Given the description of an element on the screen output the (x, y) to click on. 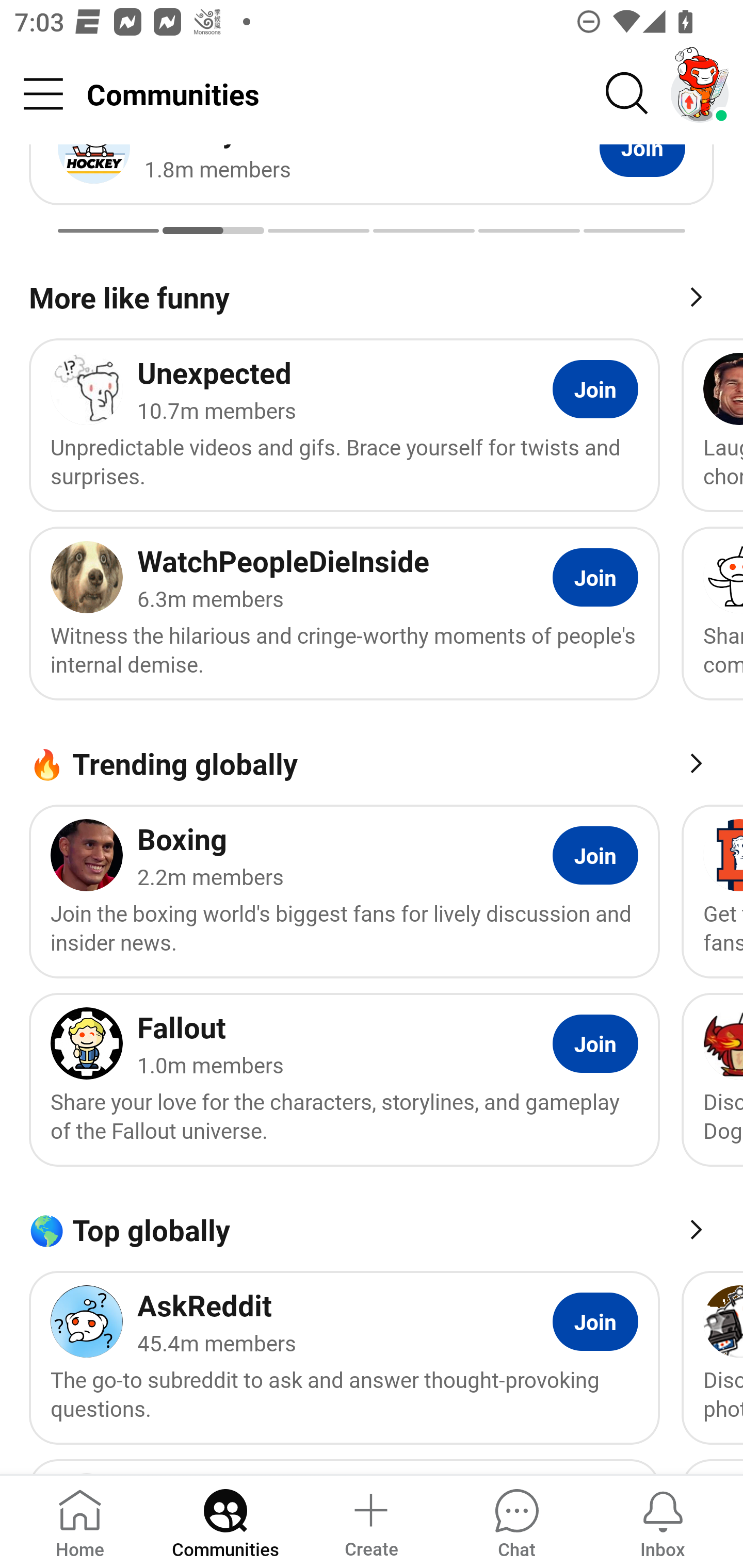
Community menu (43, 93)
Search (626, 93)
TestAppium002 account (699, 93)
More like funny View more (371, 296)
🔥 Trending globally View more (371, 761)
🌎 Top globally View more (371, 1228)
Home (80, 1520)
Communities (225, 1520)
Create a post Create (370, 1520)
Chat (516, 1520)
Inbox (662, 1520)
